Given the description of an element on the screen output the (x, y) to click on. 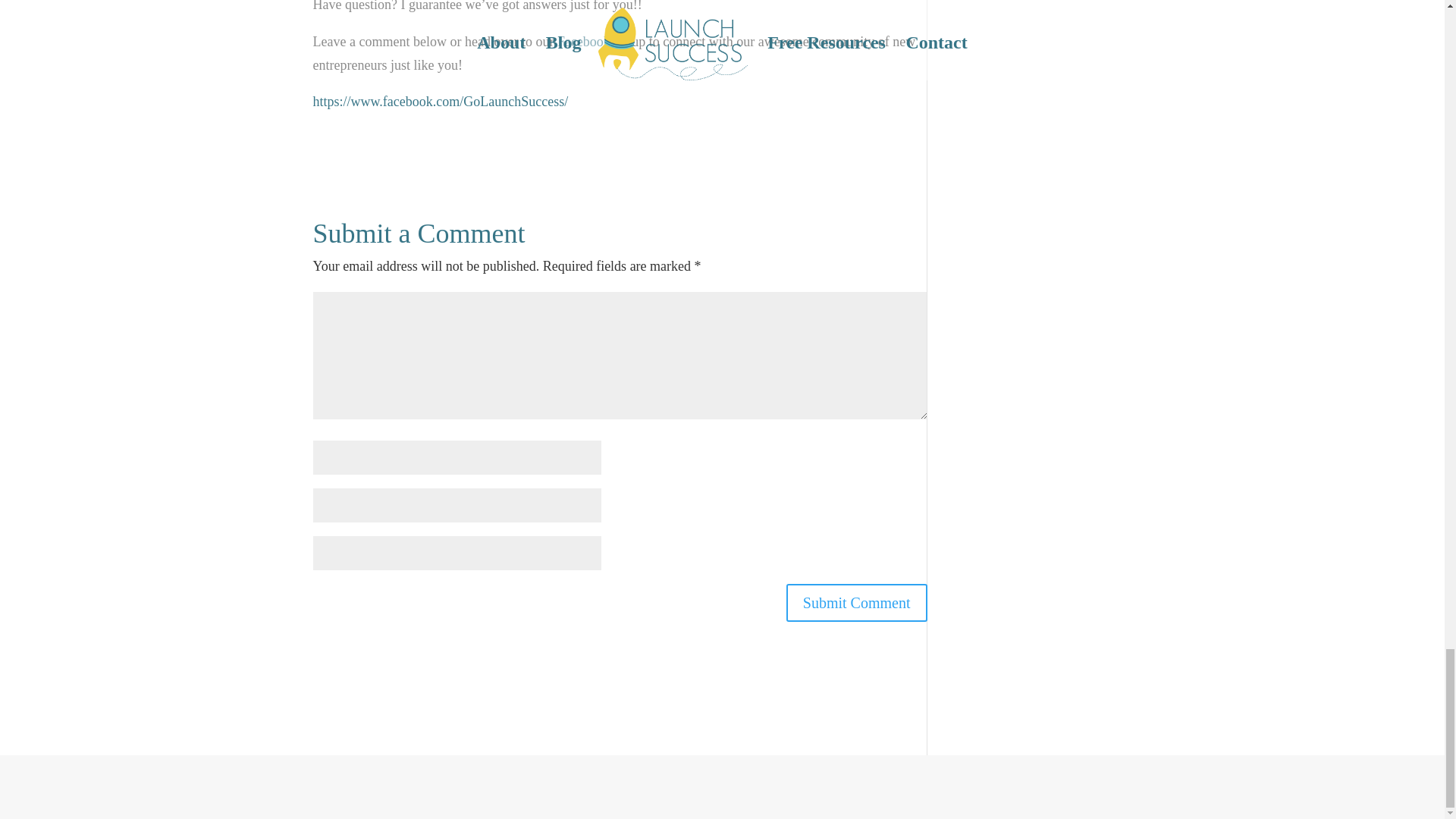
Submit Comment (856, 602)
Facebook (583, 41)
Submit Comment (856, 602)
